Given the description of an element on the screen output the (x, y) to click on. 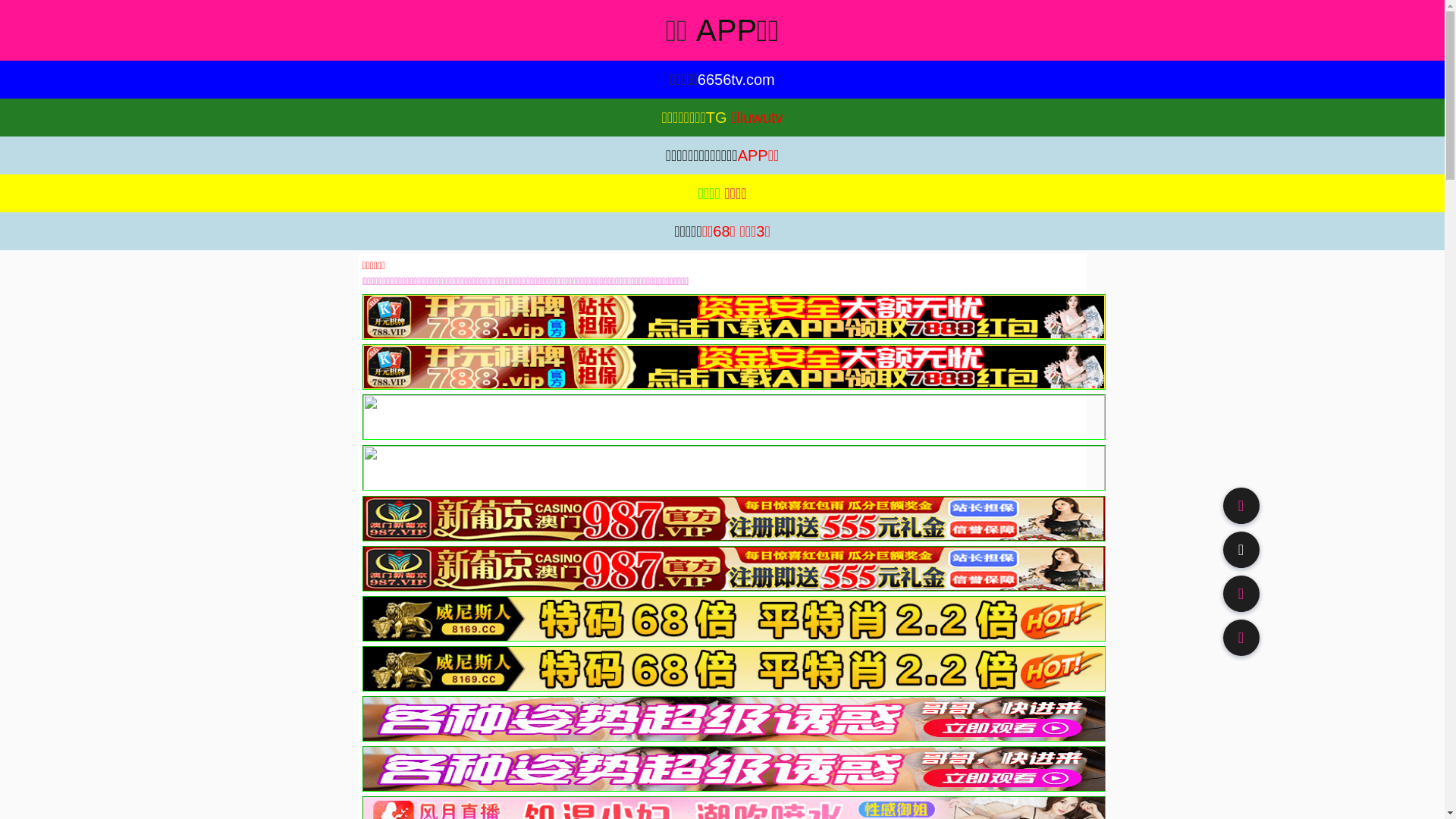
91TV Element type: hover (1240, 593)
